Given the description of an element on the screen output the (x, y) to click on. 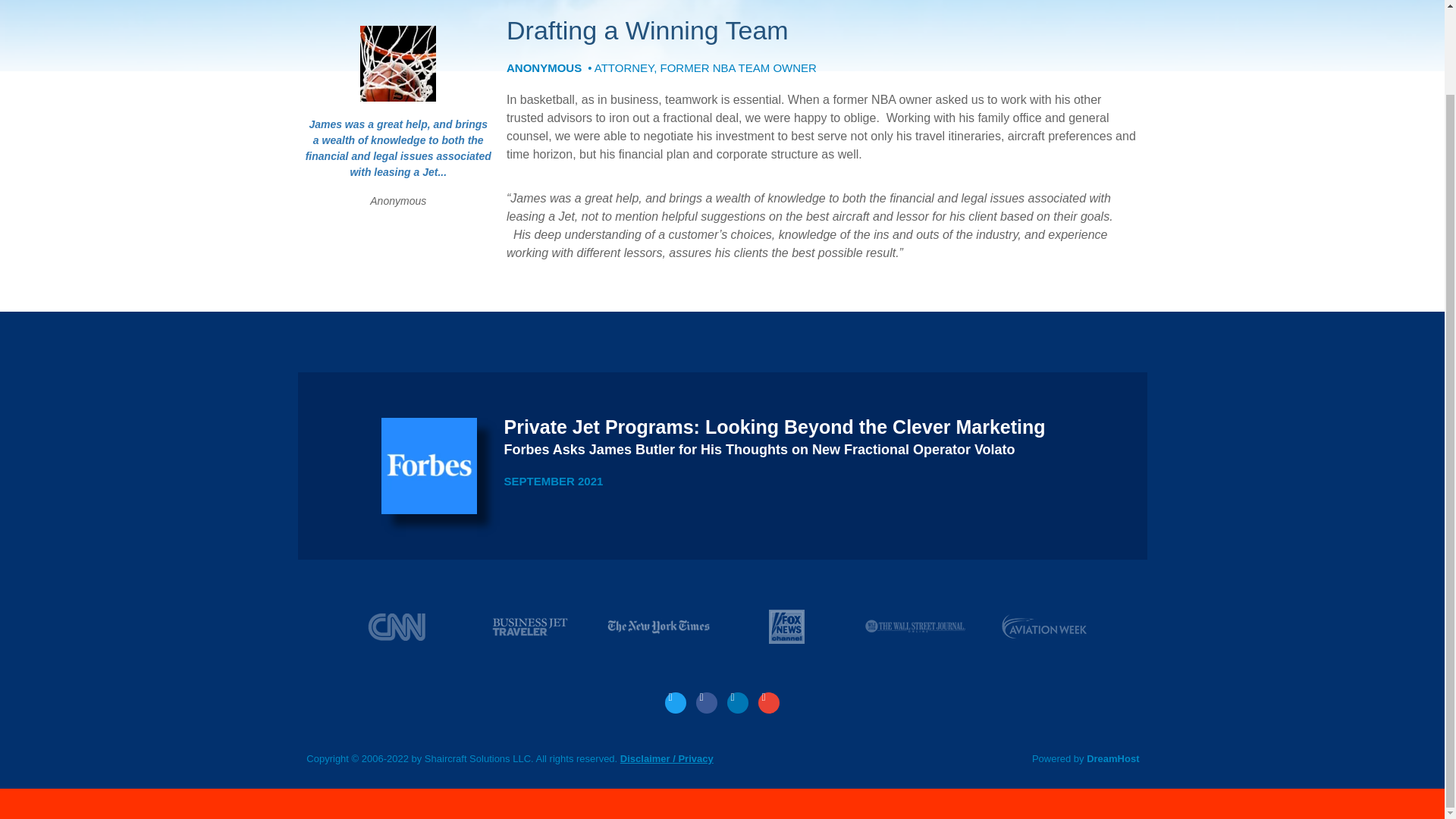
DreamHost (1112, 758)
basketball2 (397, 63)
Private Jet Programs: Looking Beyond the Clever Marketing (774, 426)
